Given the description of an element on the screen output the (x, y) to click on. 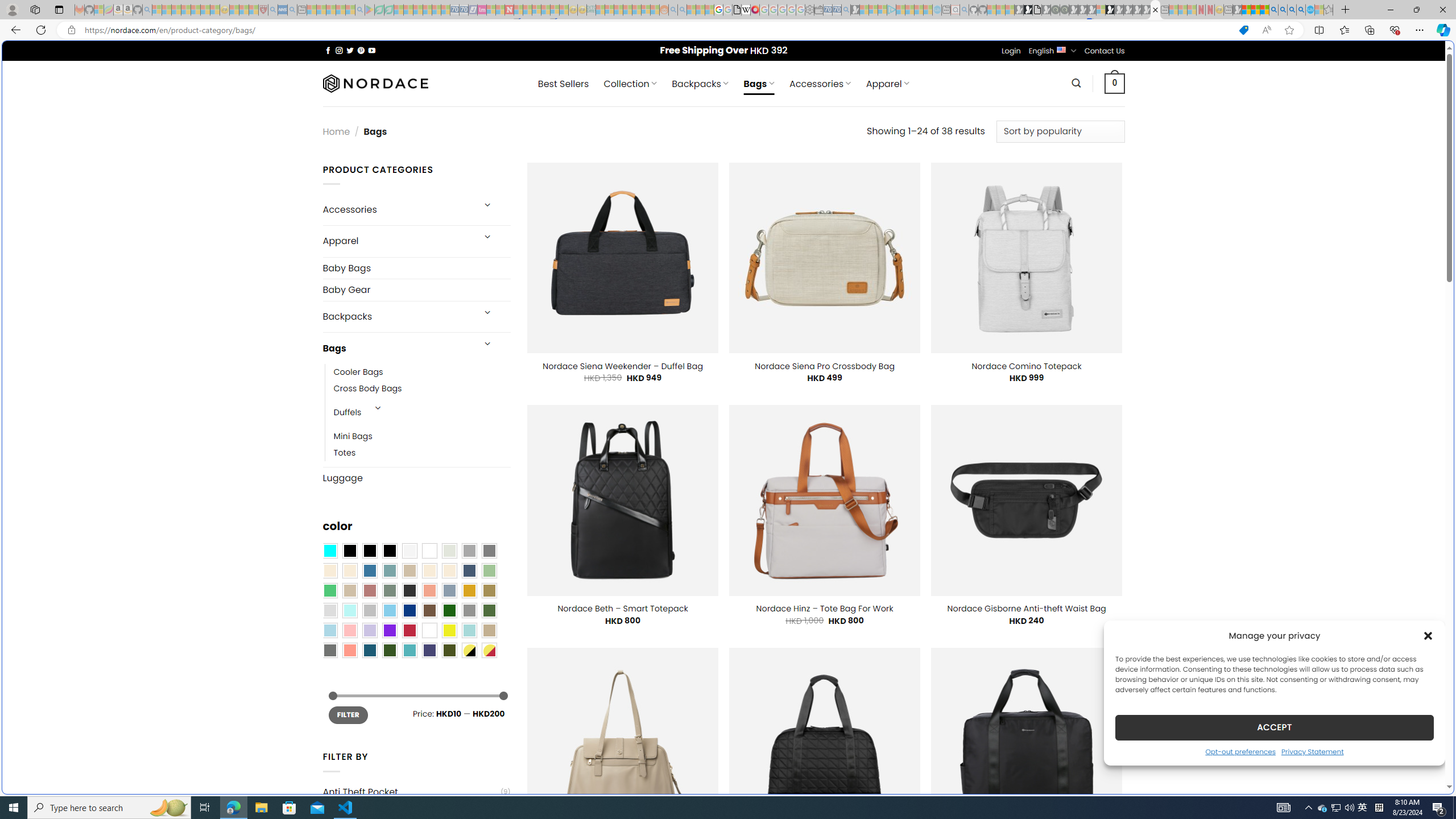
Yellow (449, 630)
Black-Brown (389, 550)
Mini Bags (352, 436)
